Given the description of an element on the screen output the (x, y) to click on. 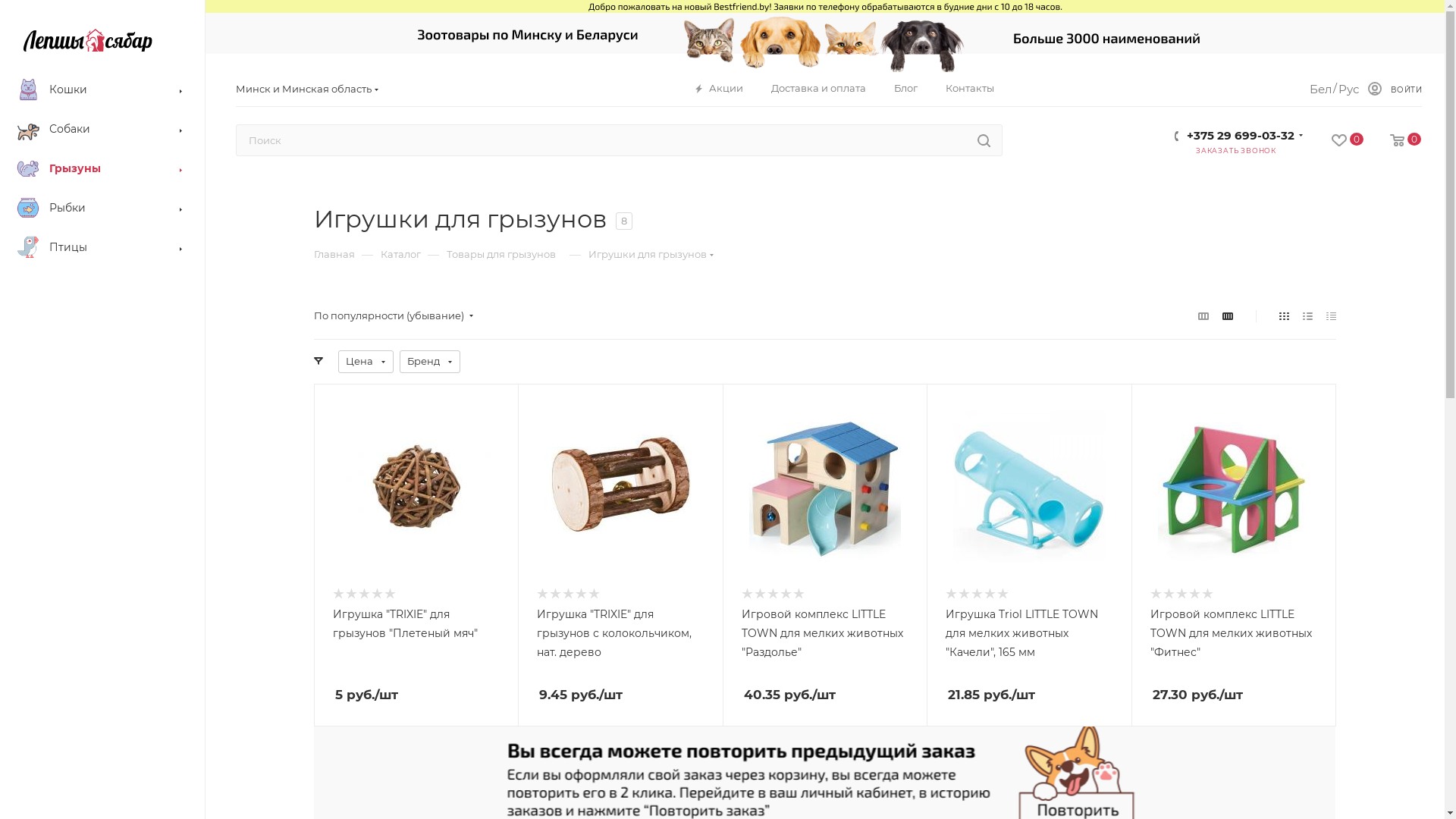
Bestfriend.by Element type: hover (87, 39)
+375 29 699-03-32 Element type: text (1240, 132)
0 Element type: text (1334, 140)
0 Element type: text (1392, 140)
